Given the description of an element on the screen output the (x, y) to click on. 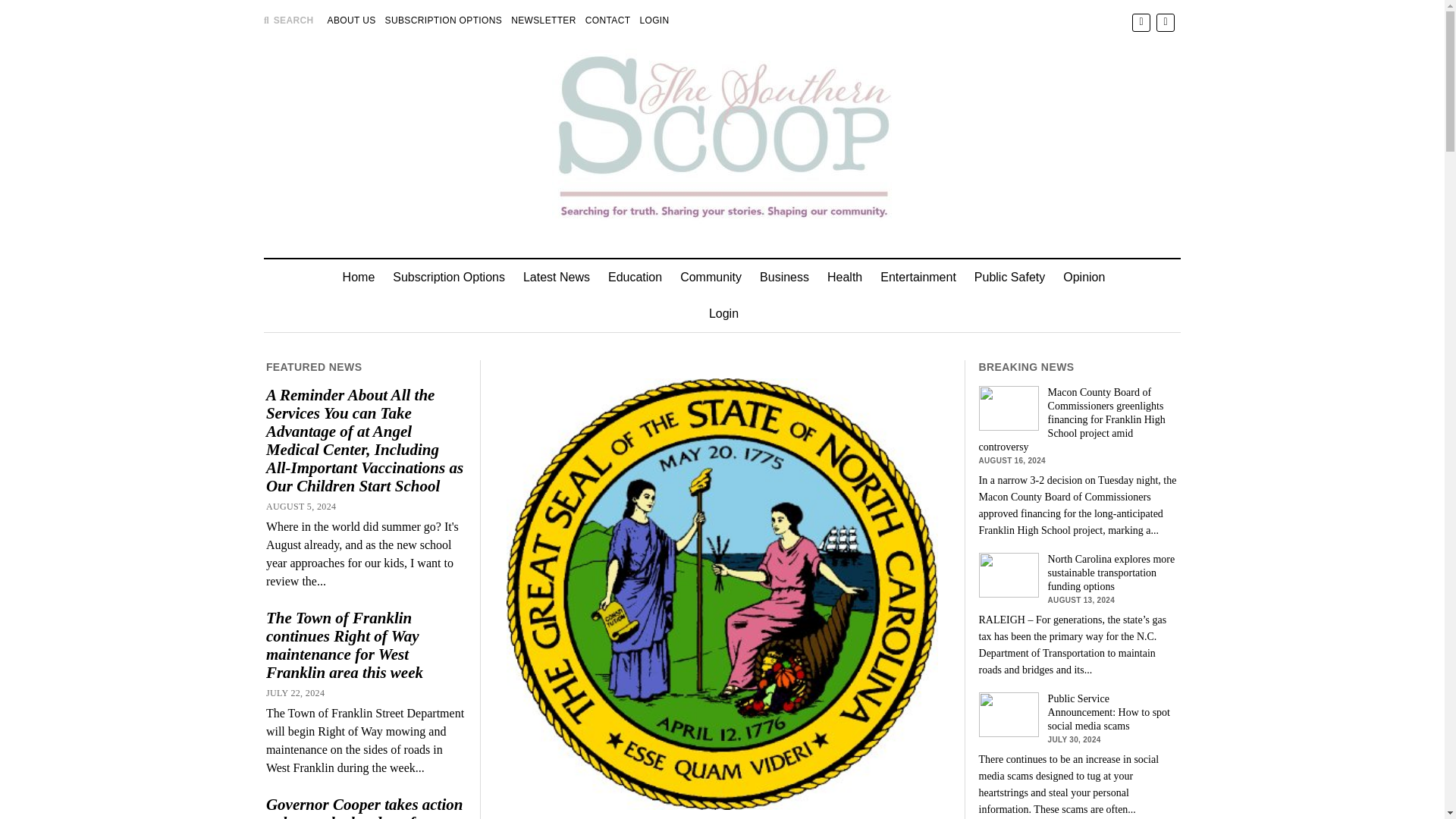
Home (358, 277)
Public Safety (1009, 277)
NEWSLETTER (543, 20)
Search (945, 129)
Login (724, 313)
Business (784, 277)
Opinion (1083, 277)
SUBSCRIPTION OPTIONS (443, 20)
SEARCH (288, 20)
LOGIN (653, 20)
